Given the description of an element on the screen output the (x, y) to click on. 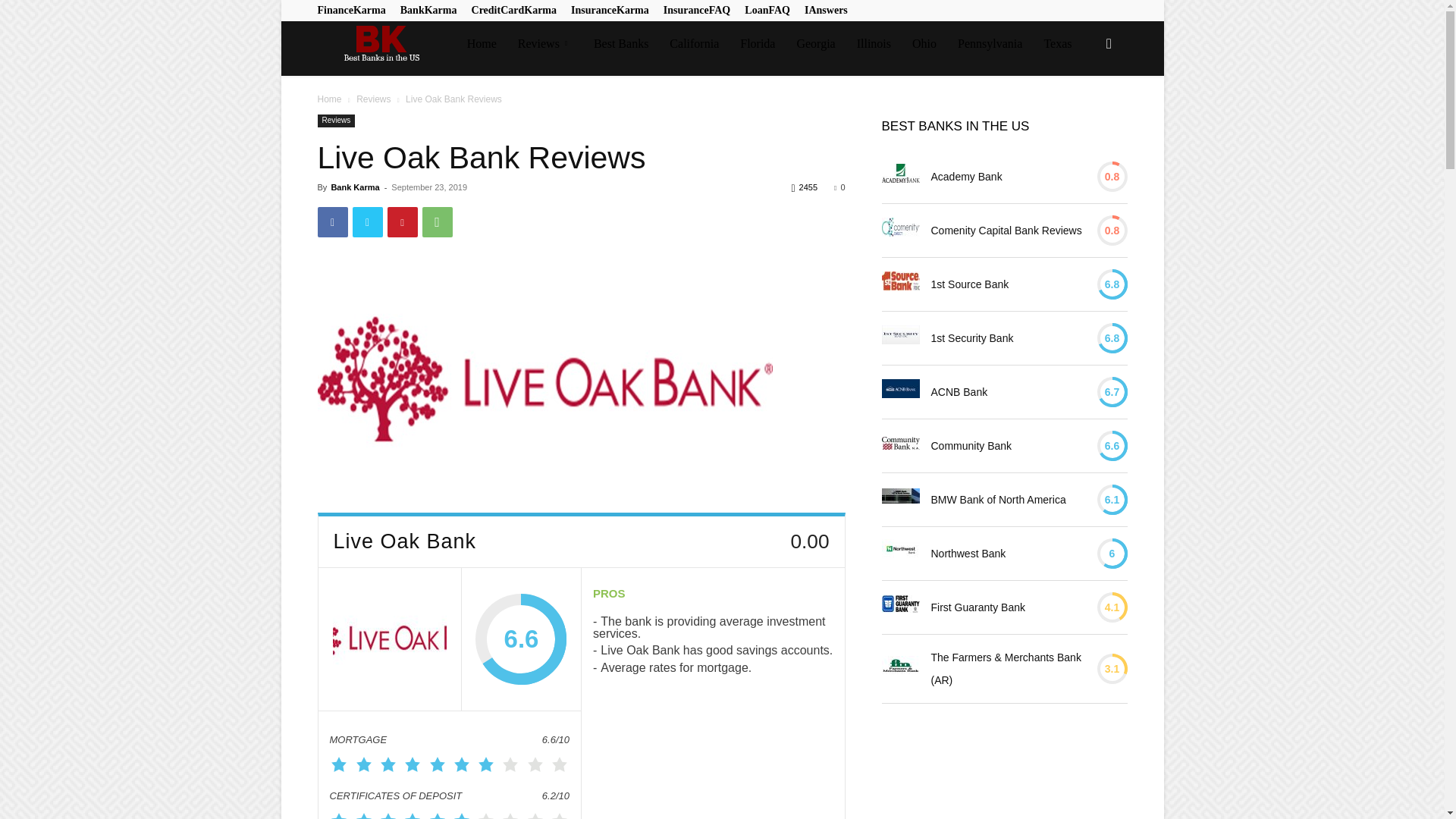
Home (481, 43)
BankKarma (428, 9)
FinanceKarma (351, 9)
Bank Karma (379, 44)
InsuranceFAQ (696, 9)
IAnswers (826, 9)
Bank Karma (386, 44)
InsuranceKarma (609, 9)
Reviews (544, 43)
CreditCardKarma (514, 9)
